Given the description of an element on the screen output the (x, y) to click on. 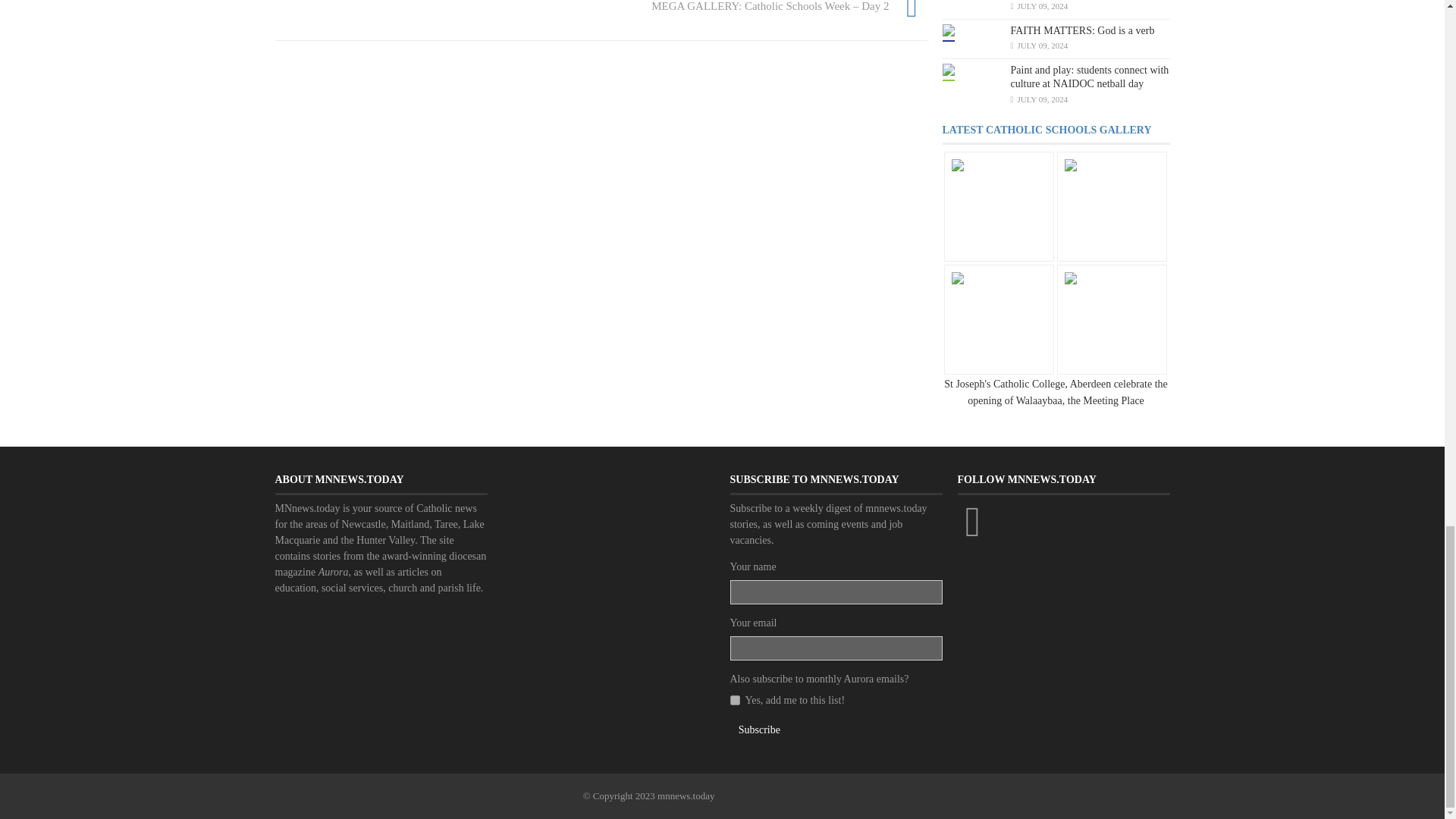
on (734, 700)
